Given the description of an element on the screen output the (x, y) to click on. 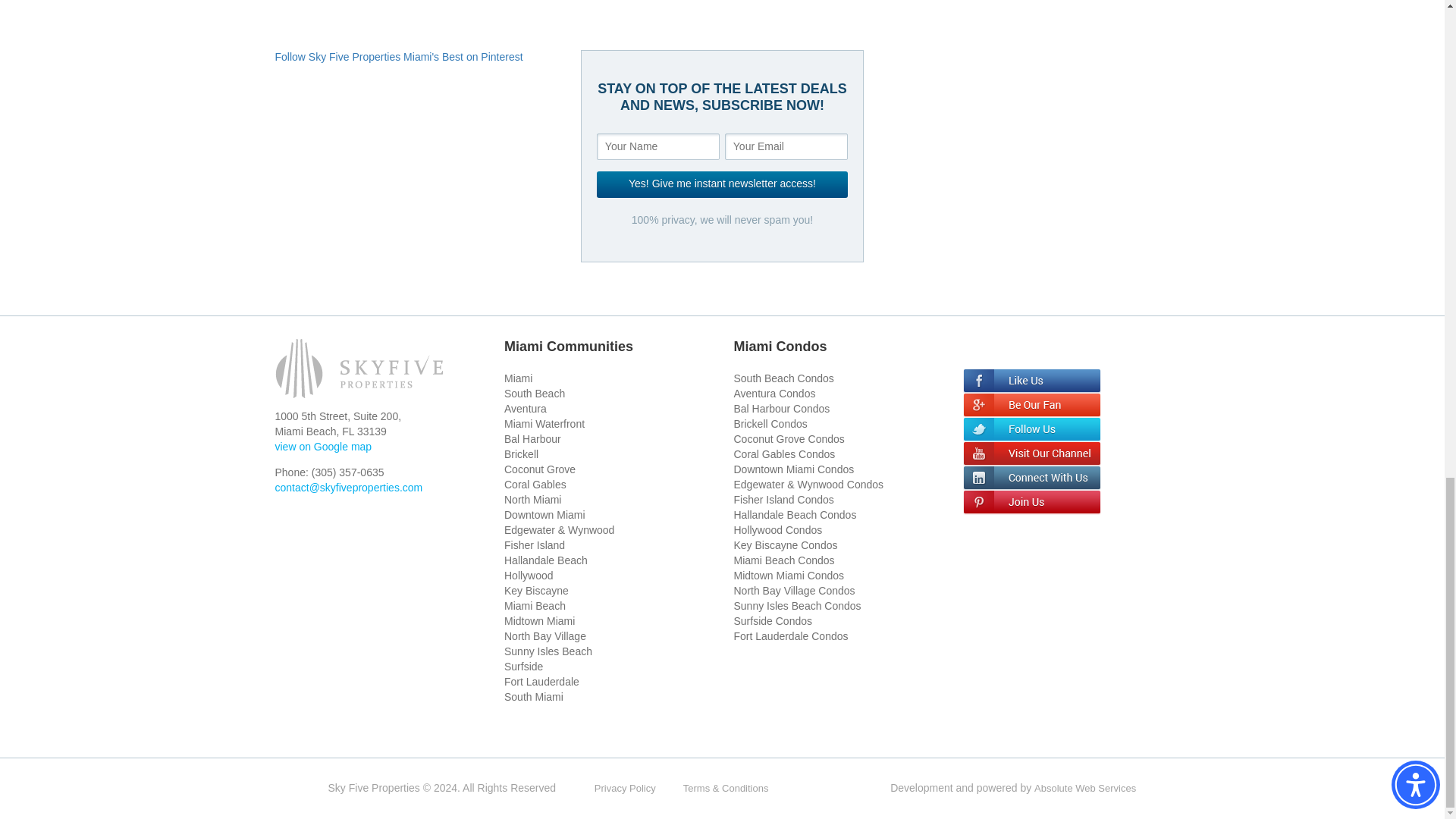
view on Google map (323, 446)
Hallandale Beach (545, 560)
Coconut Grove (539, 469)
Yes! Give me instant newsletter access! (721, 184)
Miami (517, 378)
Bal Harbour (531, 439)
South Beach (533, 393)
Coral Gables (534, 484)
Absolute Web Services (1084, 787)
Yes! Give me instant newsletter access! (721, 184)
Follow Sky Five Properties Miami's Best on Pinterest (398, 56)
Aventura (525, 408)
Downtown Miami (544, 514)
Key Biscayne (536, 590)
Brickell (520, 453)
